Given the description of an element on the screen output the (x, y) to click on. 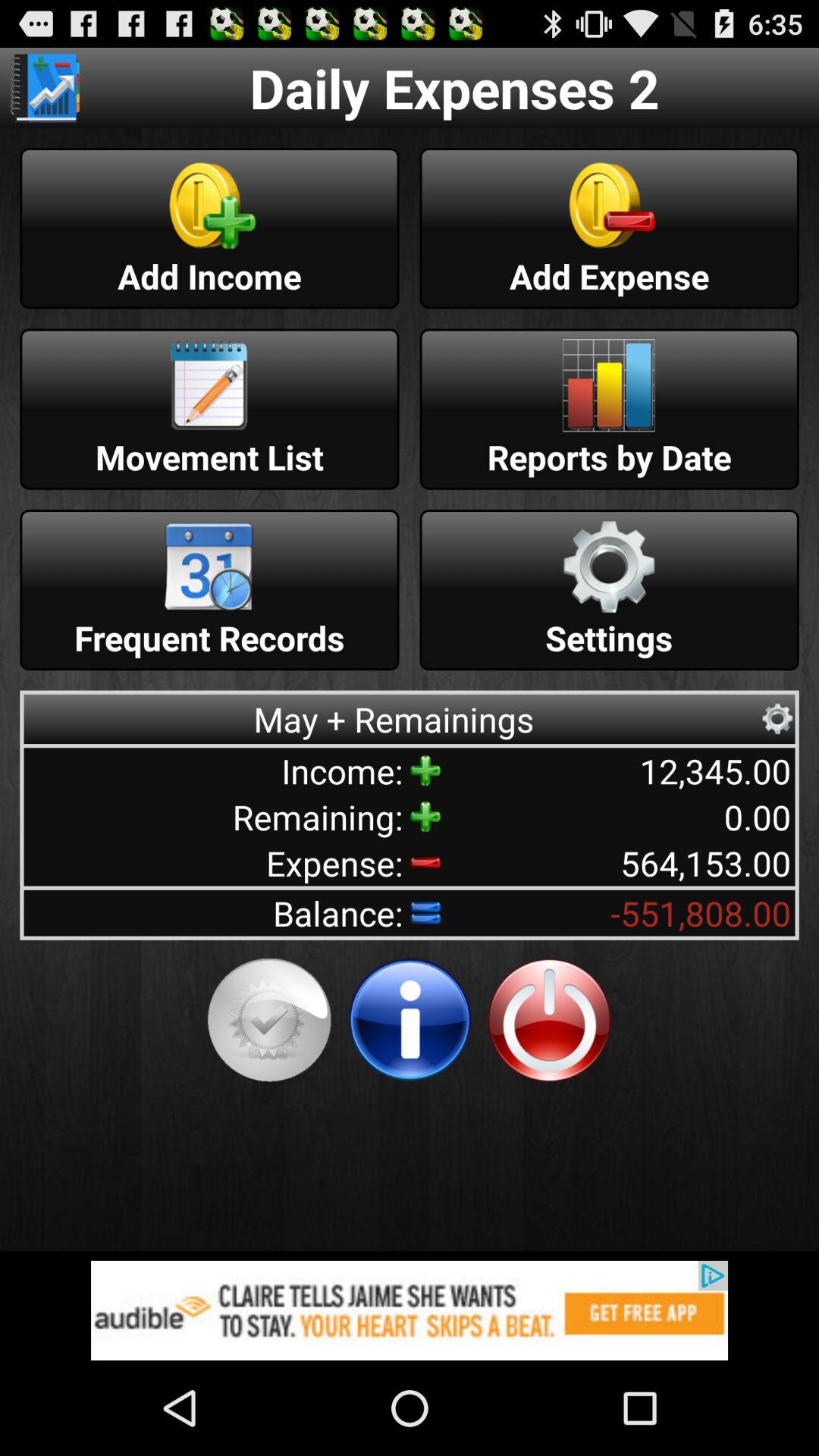
close the app (549, 1020)
